Given the description of an element on the screen output the (x, y) to click on. 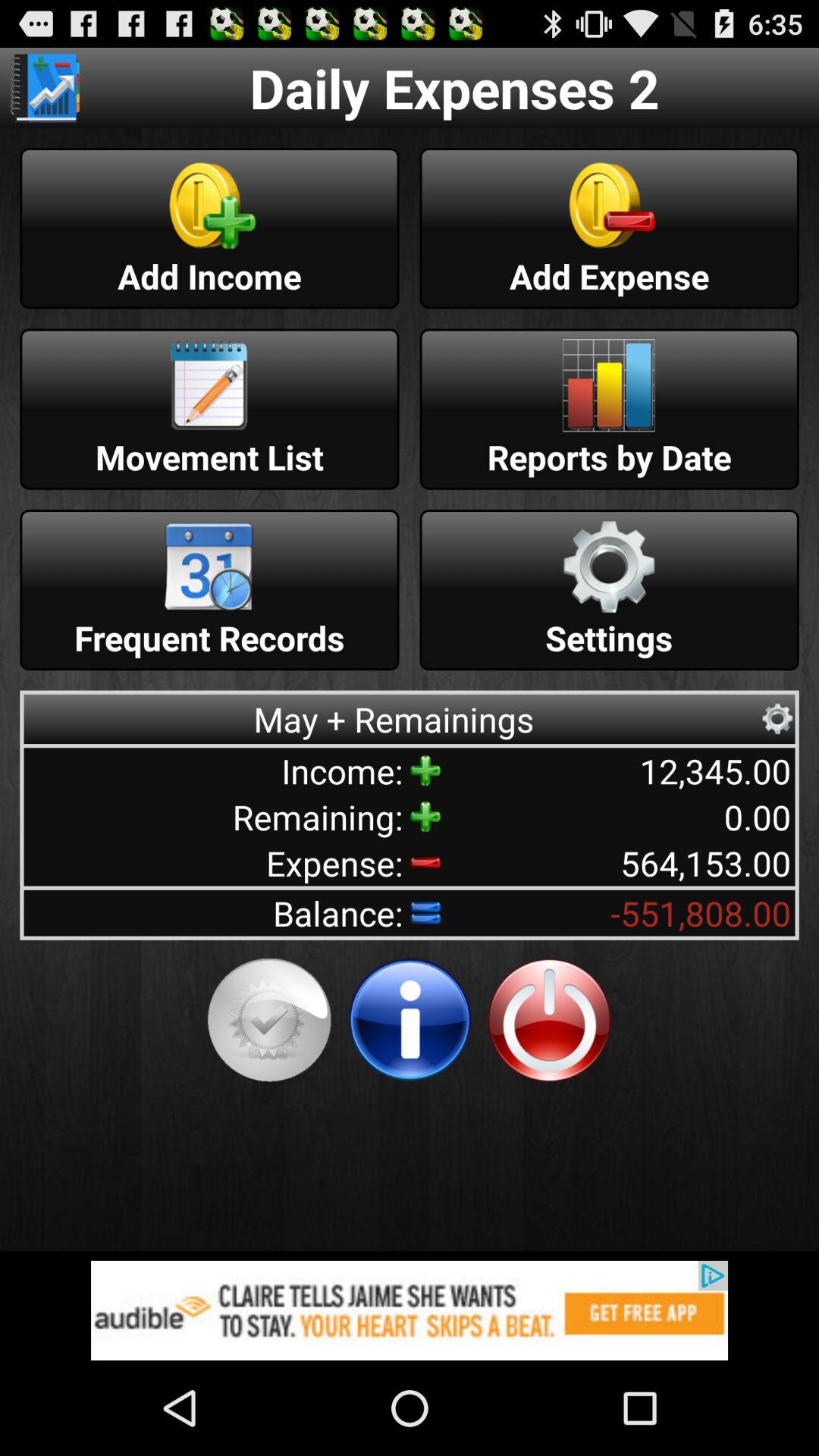
close the app (549, 1020)
